Given the description of an element on the screen output the (x, y) to click on. 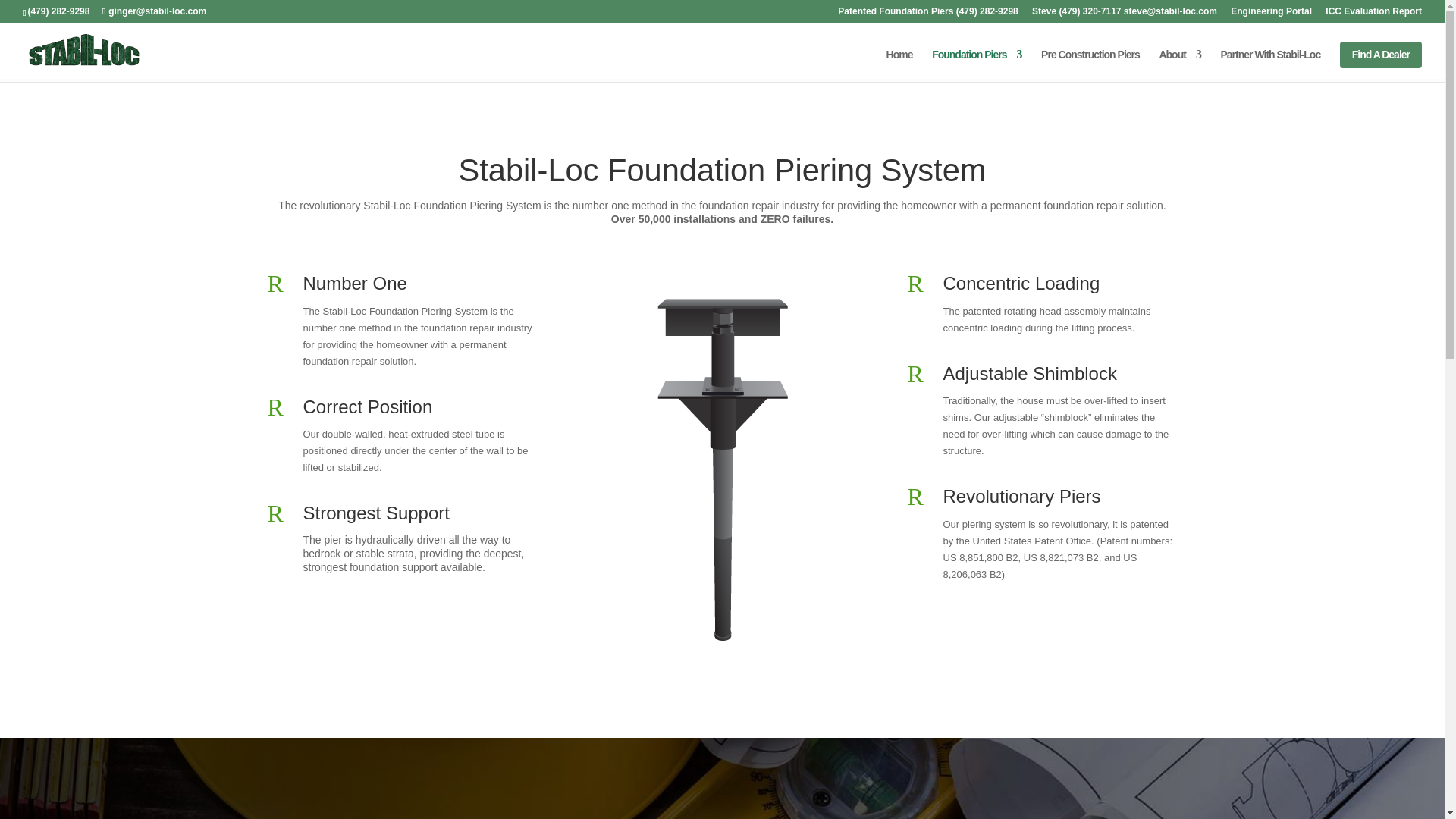
About (1178, 63)
Partner With Stabil-Loc (1270, 63)
Foundation Piers (976, 63)
Find A Dealer (1380, 54)
Pre Construction Piers (1090, 63)
ICC Evaluation Report (1373, 14)
Engineering Portal (1270, 14)
Home (899, 63)
